Given the description of an element on the screen output the (x, y) to click on. 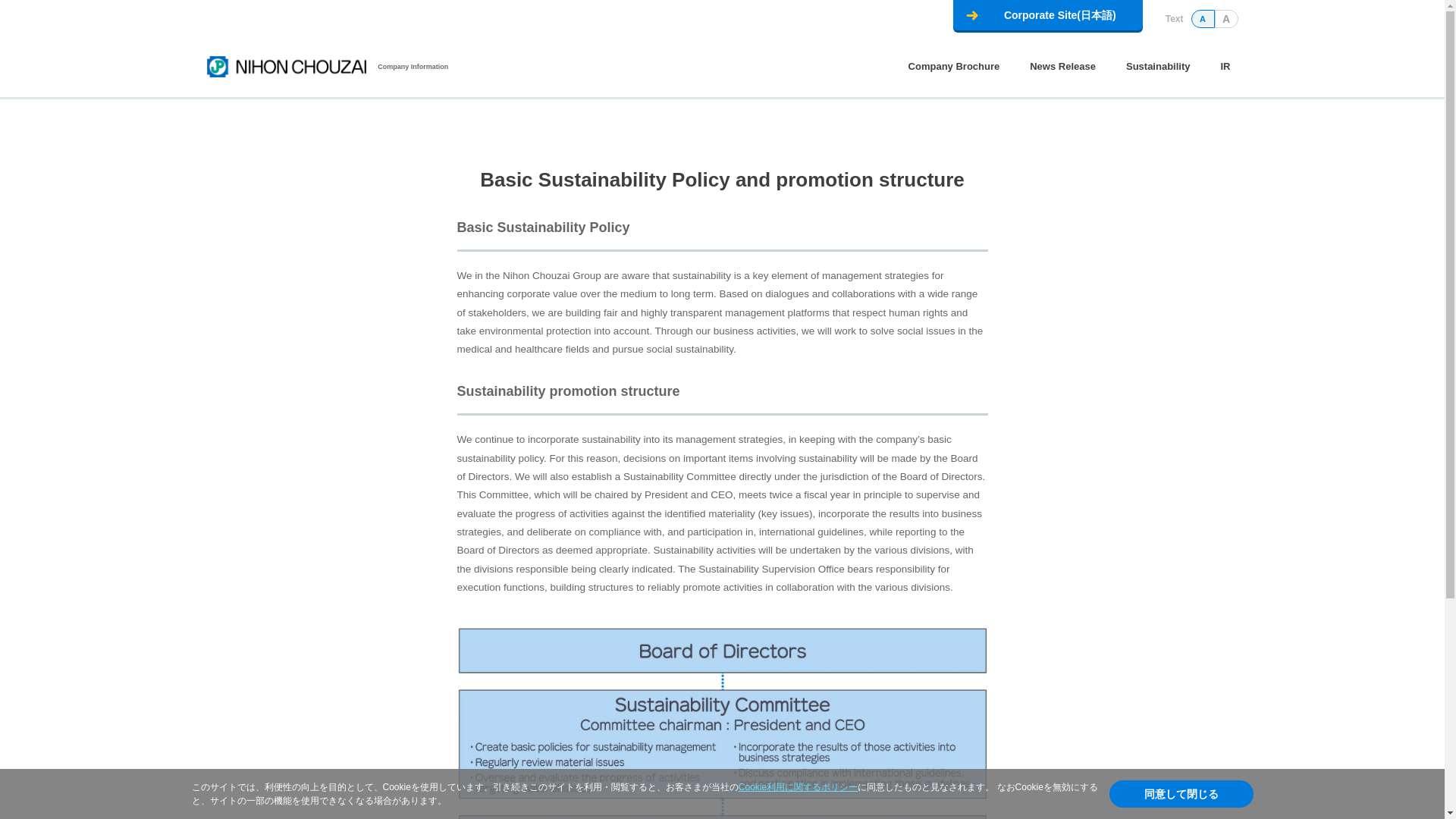
News Release (1062, 64)
Sustainability (1157, 64)
Company Brochure (953, 64)
IR (1225, 64)
